Given the description of an element on the screen output the (x, y) to click on. 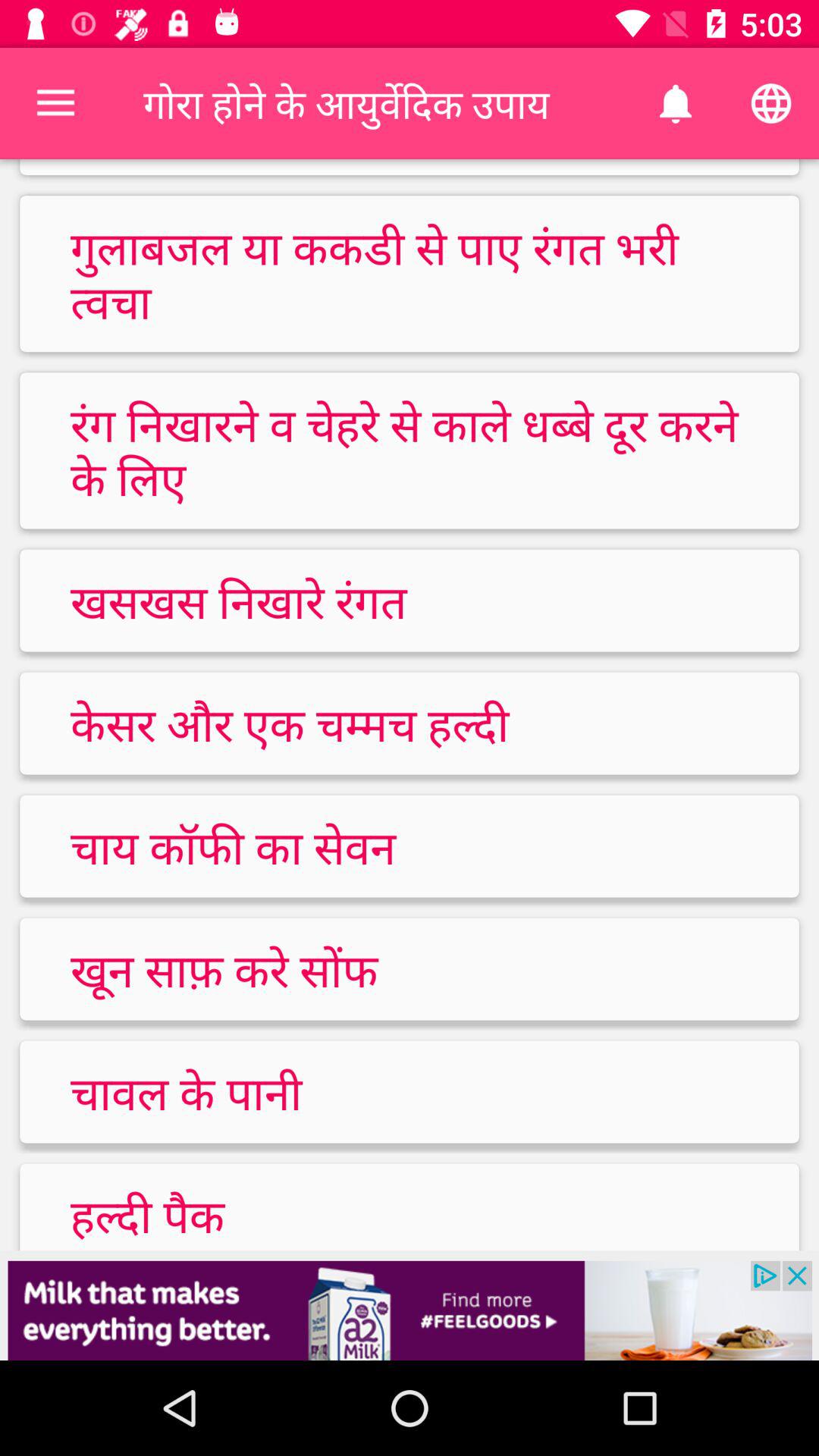
select the browse icon (771, 103)
click on the fifth option (409, 846)
